Given the description of an element on the screen output the (x, y) to click on. 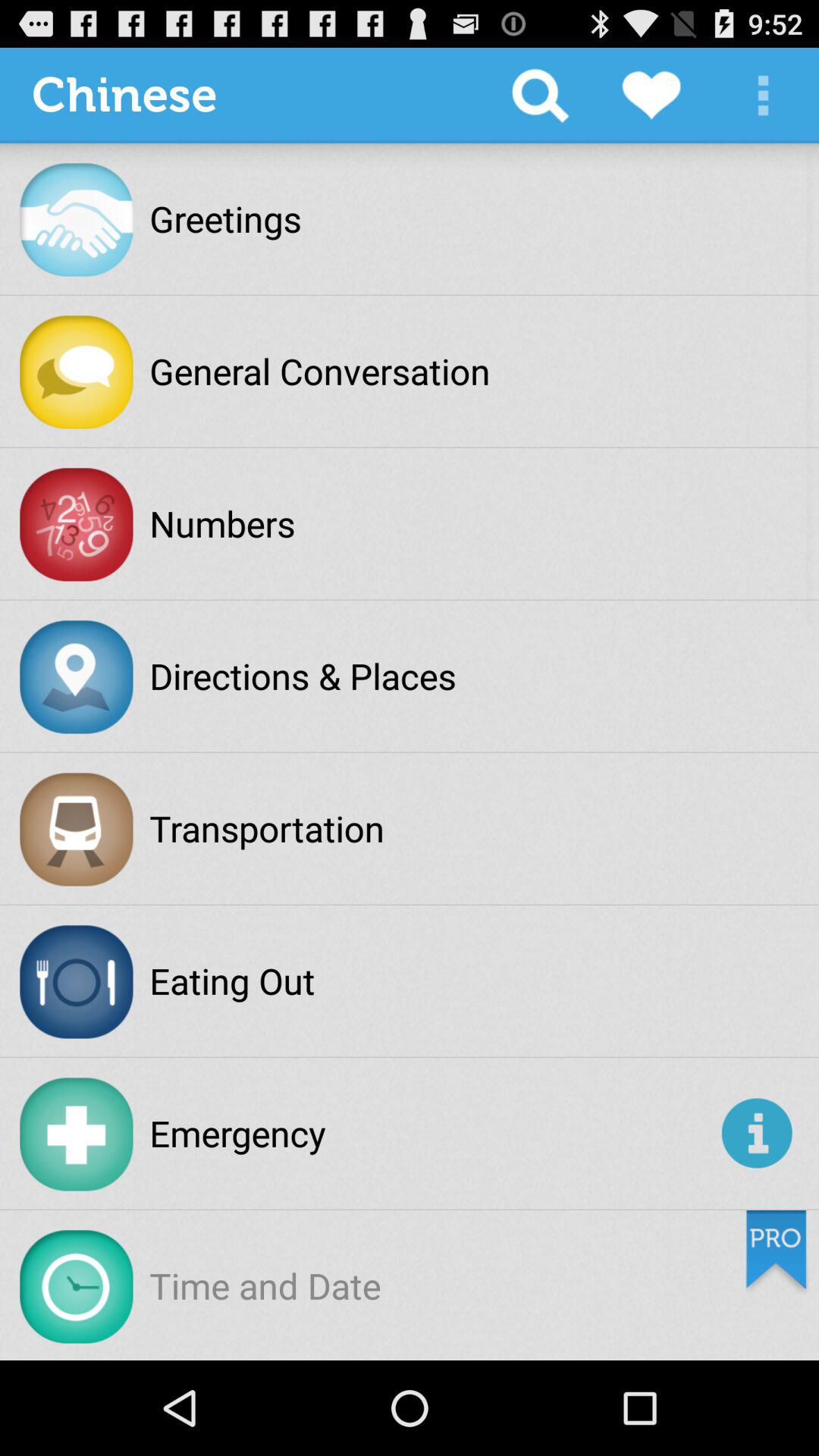
launch the time and date icon (265, 1285)
